Given the description of an element on the screen output the (x, y) to click on. 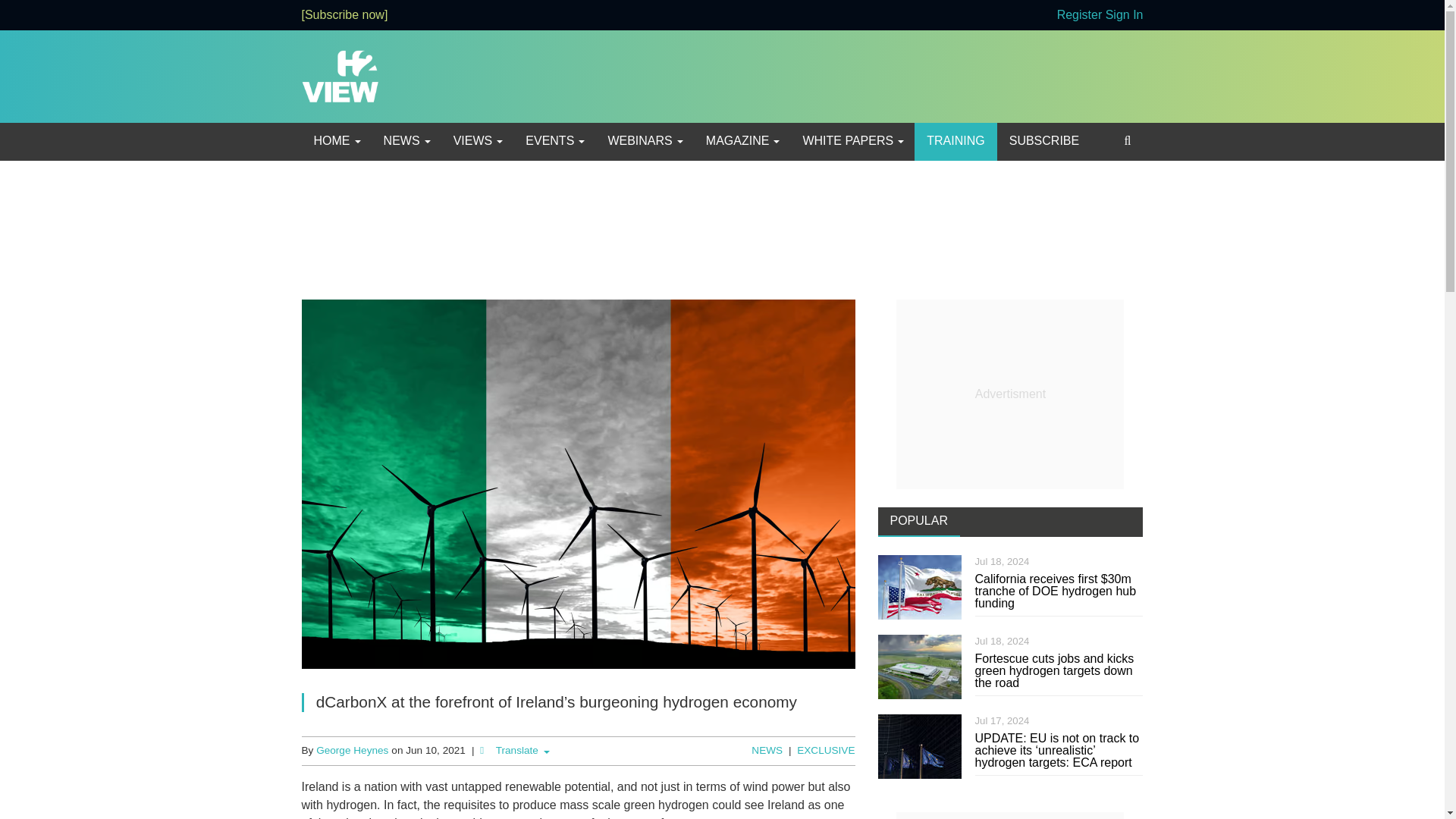
HOME (336, 140)
Home (336, 140)
Become a member today (344, 14)
NEWS (406, 140)
Sign In (1123, 14)
Sign in now (1123, 14)
Register now (1079, 14)
Register (1079, 14)
H2 View (339, 74)
News (406, 140)
